Given the description of an element on the screen output the (x, y) to click on. 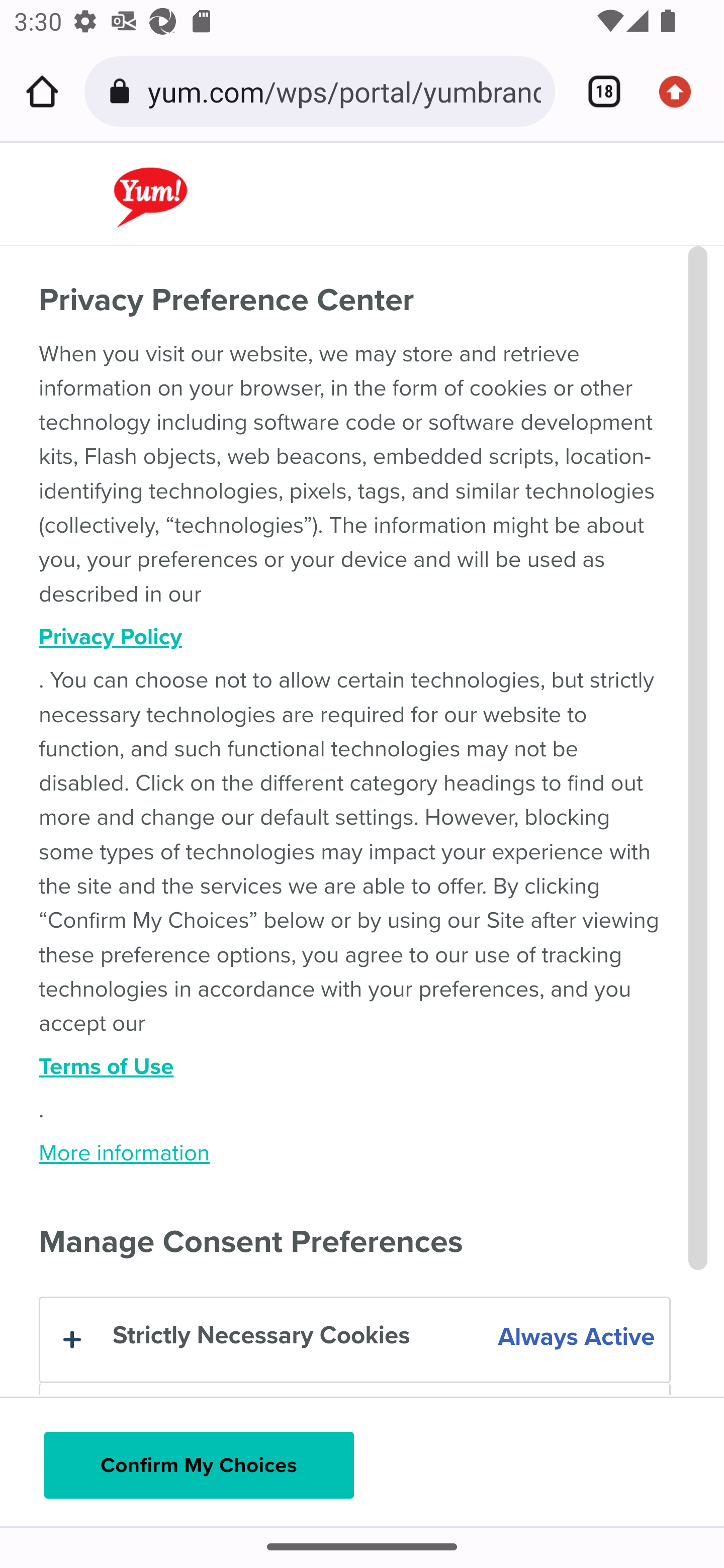
Home (42, 91)
Connection is secure (122, 91)
Switch or close tabs (597, 91)
Update available. More options (681, 91)
yum.com/wps/portal/yumbrands/Yumbrands (343, 90)
javascript:void(0); (202, 183)
Privacy Policy (354, 637)
Terms of Use (354, 1066)
Strictly Necessary Cookies (354, 1340)
Confirm My Choices (198, 1465)
